Given the description of an element on the screen output the (x, y) to click on. 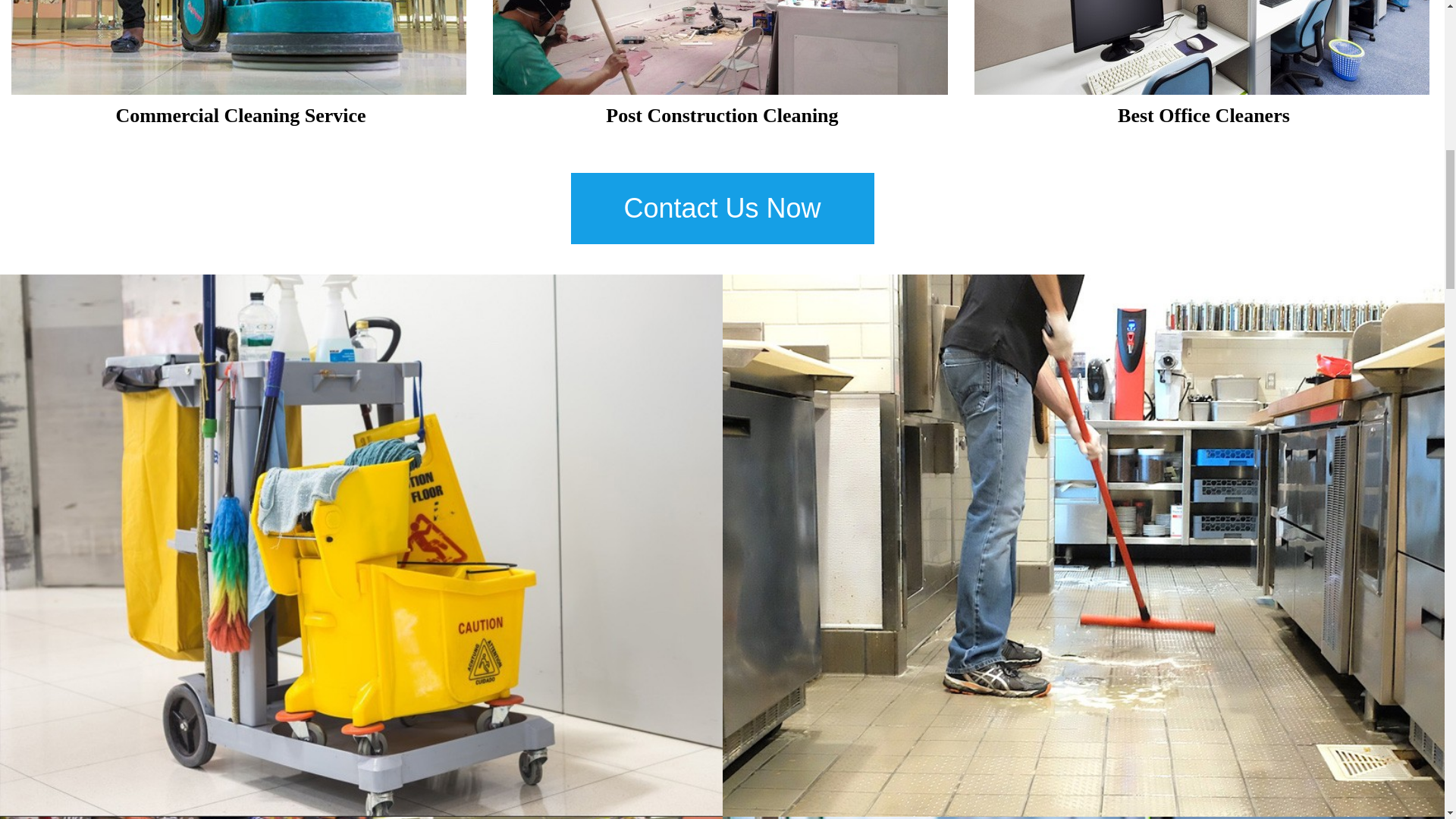
Contact Us Now (721, 208)
